Given the description of an element on the screen output the (x, y) to click on. 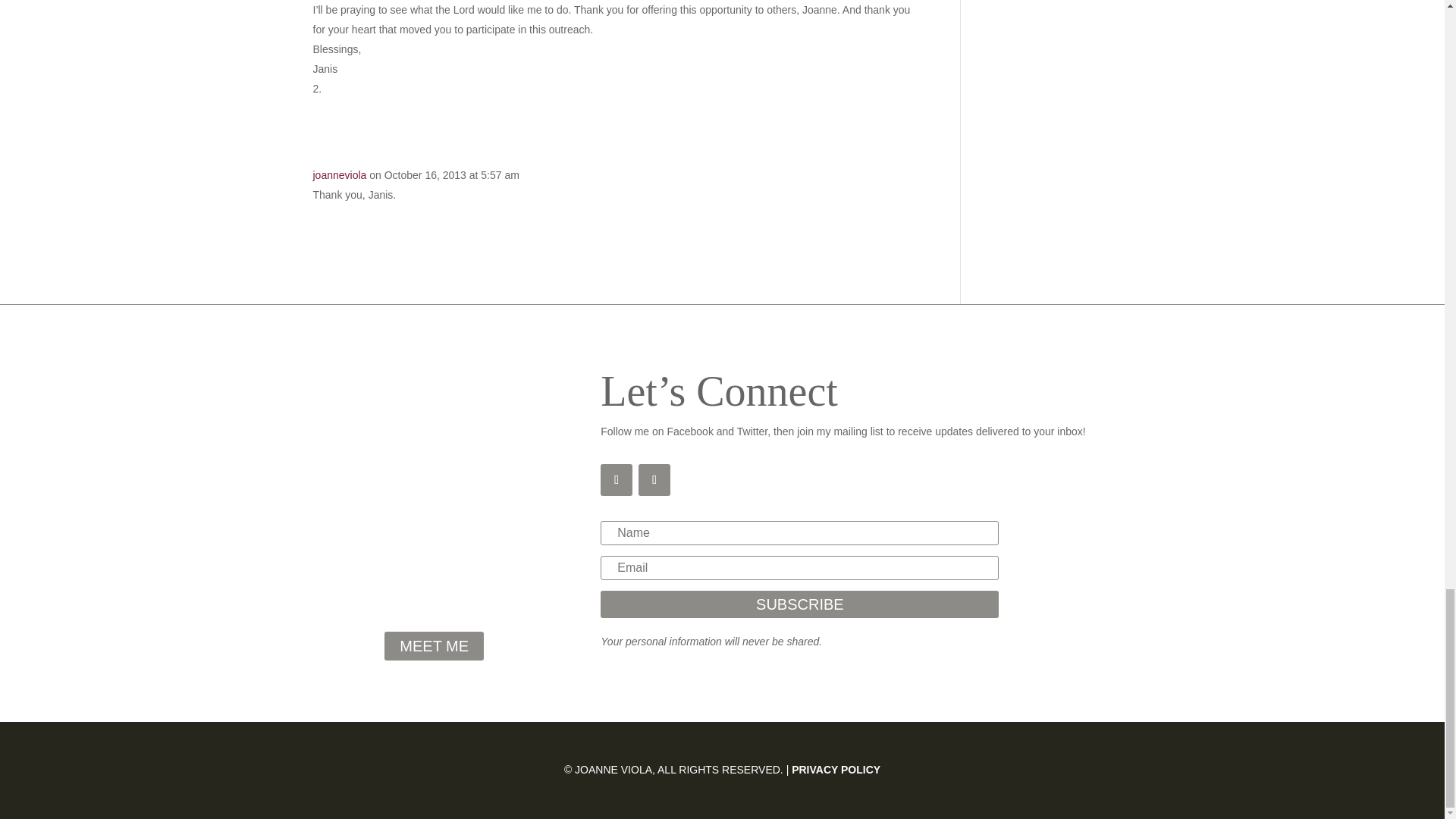
Follow on Facebook (615, 480)
PRIVACY POLICY (836, 769)
MEET ME (433, 645)
joanneviola (339, 174)
Follow on X (654, 480)
SUBSCRIBE (798, 604)
